Given the description of an element on the screen output the (x, y) to click on. 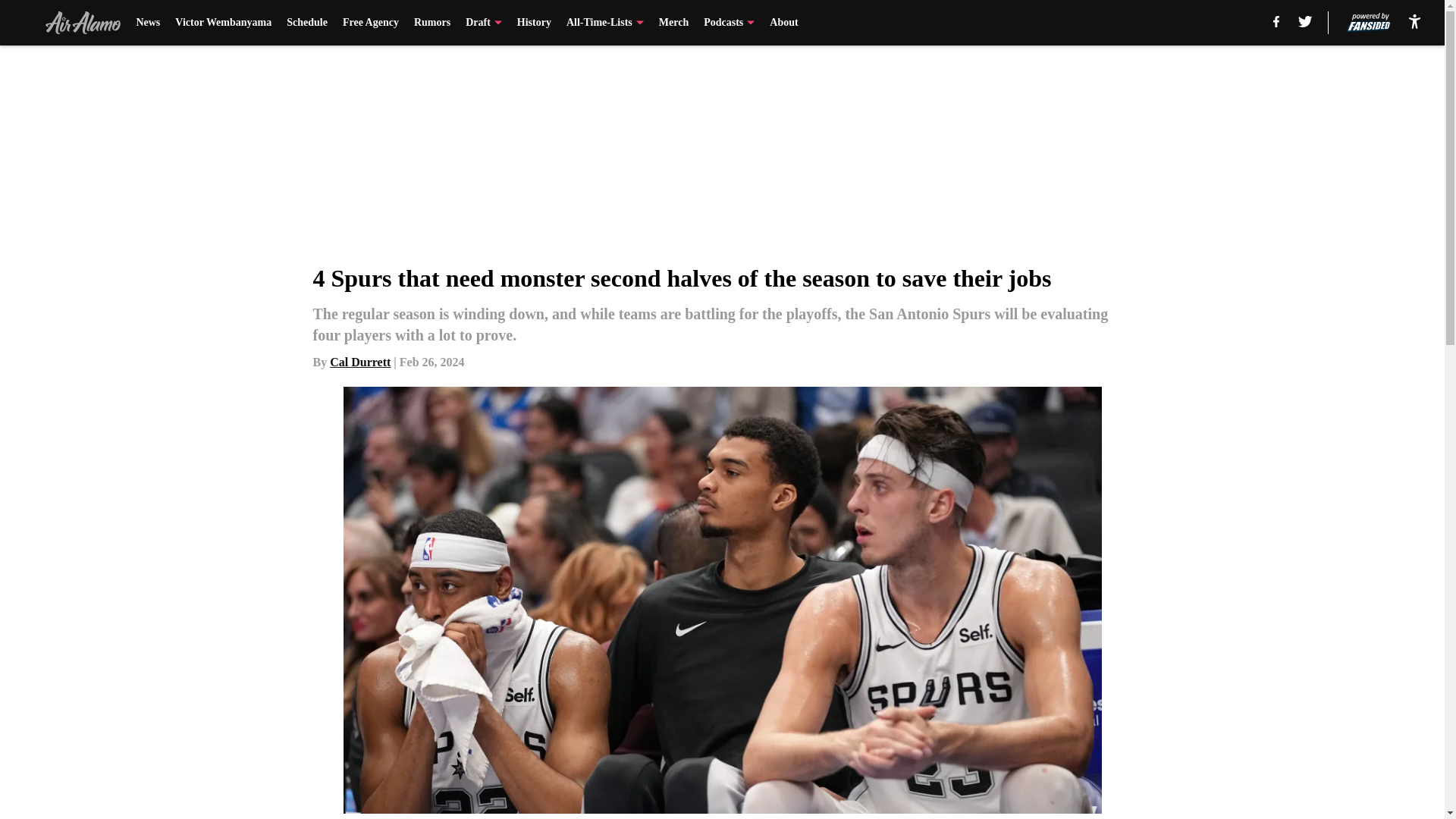
History (533, 22)
Draft (483, 22)
Rumors (431, 22)
News (147, 22)
Schedule (306, 22)
About (783, 22)
Victor Wembanyama (222, 22)
Merch (673, 22)
Cal Durrett (360, 361)
